Given the description of an element on the screen output the (x, y) to click on. 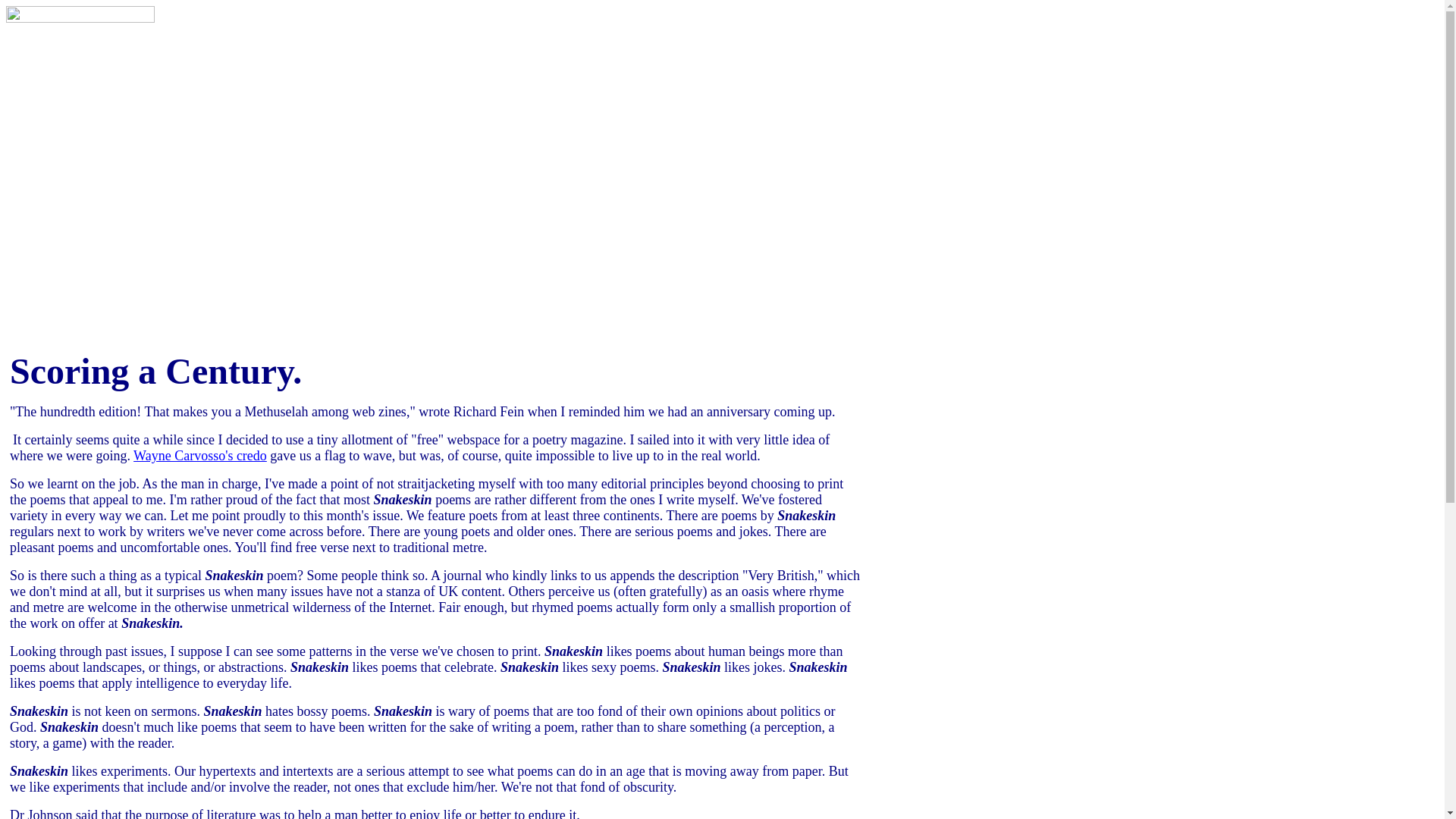
Wayne Carvosso's credo (199, 455)
